Given the description of an element on the screen output the (x, y) to click on. 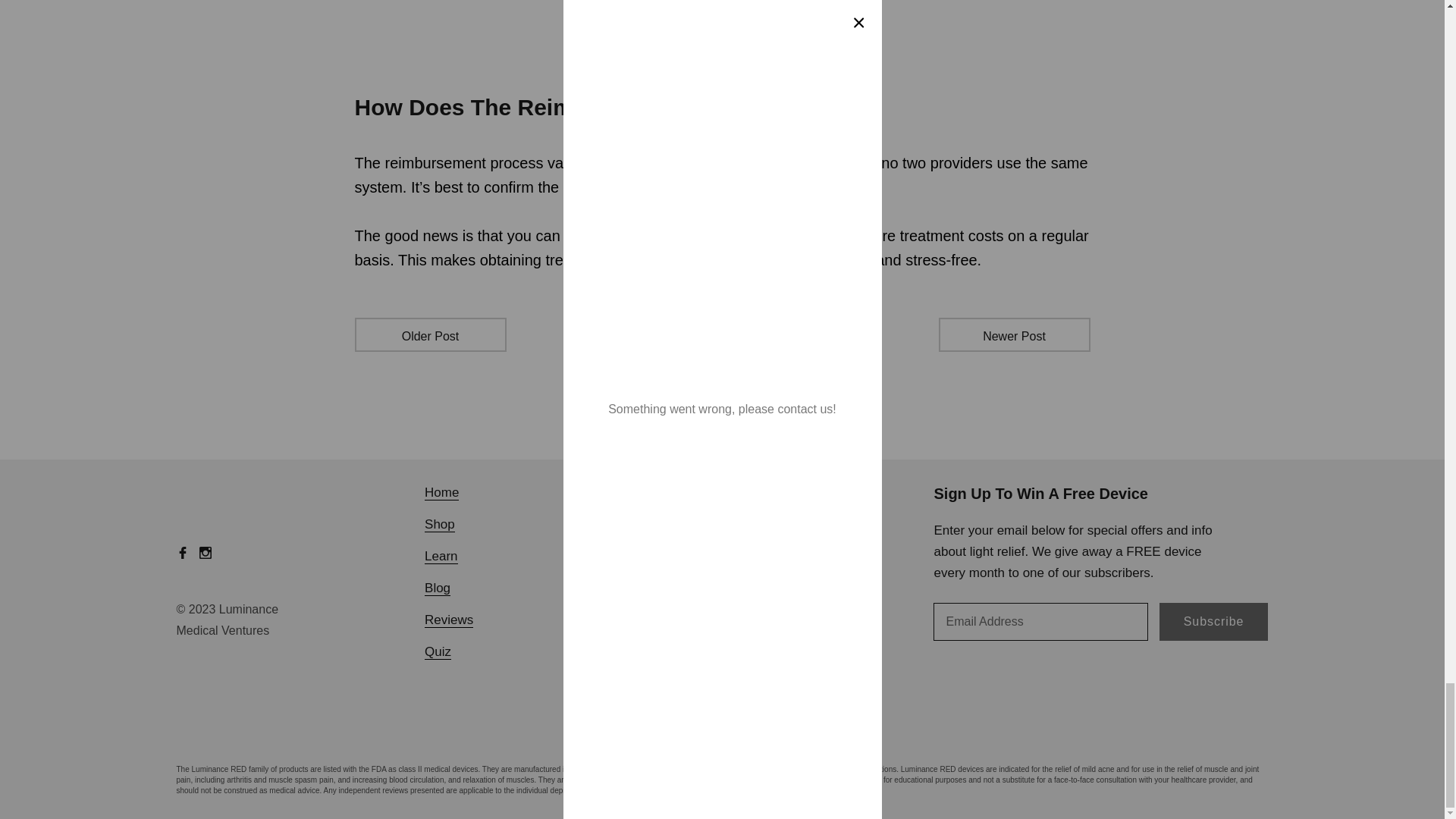
Luminance RED for Genital Herpes (722, 52)
Facebook (182, 552)
Shop (439, 523)
Home (441, 492)
Quiz (438, 651)
ORDER NOW (722, 52)
Newer Post (1014, 334)
Reviews (449, 619)
Our Medical Experts (650, 492)
FAQ (604, 523)
